Given the description of an element on the screen output the (x, y) to click on. 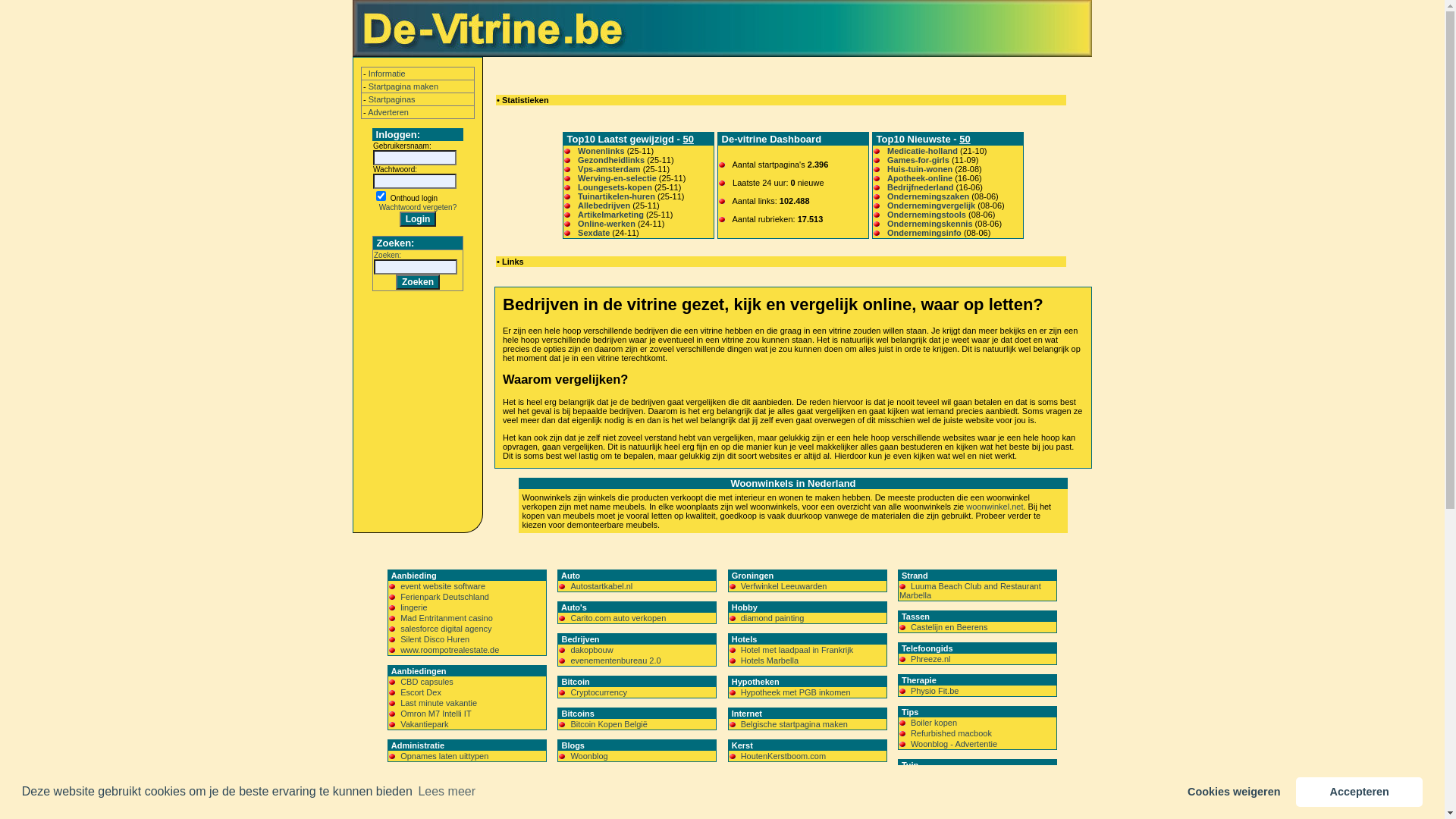
lingerie Element type: text (413, 606)
Login Element type: text (417, 218)
csgoroll Element type: text (584, 787)
Refurbished macbook Element type: text (950, 732)
Escort Dex Element type: text (420, 691)
av ladies Element type: text (416, 798)
Mad Entritanment casino Element type: text (446, 617)
Wachtwoord vergeten? Element type: text (417, 207)
Silent Disco Huren Element type: text (434, 638)
Gezondheidlinks Element type: text (610, 159)
elektrische kookplaat 4 tips kopen Element type: text (462, 808)
Adverteren Element type: text (387, 111)
50 Element type: text (687, 138)
Apotheek-online Element type: text (919, 177)
Huis-tuin-wonen Element type: text (919, 168)
Lees meer Element type: text (446, 791)
Zoeken Element type: text (417, 281)
salesforce digital agency Element type: text (445, 628)
www.roompotrealestate.de Element type: text (449, 649)
gokkasten Element type: text (589, 798)
Phreeze.nl Element type: text (930, 658)
Carito.com auto verkopen Element type: text (617, 617)
Cryptocurrency Element type: text (598, 691)
kosten riool ontstoppen Utrecht Element type: text (968, 807)
diamond painting Element type: text (772, 617)
Ferienpark Deutschland Element type: text (444, 596)
Loungesets-kopen Element type: text (614, 186)
Autostartkabel.nl Element type: text (601, 585)
Cookies weigeren Element type: text (1233, 791)
Allebedrijven Element type: text (603, 205)
Werving-en-selectie Element type: text (616, 177)
Luuma Beach Club and Restaurant Marbella Element type: text (970, 590)
Medicatie-holland Element type: text (922, 150)
Artikelmarketing Element type: text (610, 214)
dakopbouw Element type: text (591, 649)
Vakantiepark Element type: text (424, 723)
Woonblog Element type: text (588, 755)
Professioneel kerstverlichting Element type: text (794, 787)
Wonenlinks Element type: text (600, 150)
Ondernemingszaken Element type: text (928, 195)
Sexdate Element type: text (593, 232)
Vps-amsterdam Element type: text (608, 168)
Boiler kopen Element type: text (933, 722)
Castelijn en Beerens Element type: text (949, 626)
Online-werken Element type: text (606, 223)
Tuinartikelen-huren Element type: text (616, 195)
Ondernemingvergelijk Element type: text (931, 205)
CBD capsules Element type: text (426, 681)
Tuinverlichtingen.eu Element type: text (947, 775)
Ondernemingskennis Element type: text (929, 223)
Physio Fit.be Element type: text (934, 690)
Accepteren Element type: text (1358, 791)
Adventskalender kopen Element type: text (443, 787)
event website software Element type: text (442, 585)
Games-for-girls Element type: text (918, 159)
Omron M7 Intelli IT Element type: text (435, 713)
evenementenbureau 2.0 Element type: text (615, 660)
Hypotheek met PGB inkomen Element type: text (795, 691)
50 Element type: text (964, 138)
Zoeken: Element type: text (387, 255)
Verfwinkel Leeuwarden Element type: text (783, 585)
Startpagina maken Element type: text (403, 86)
Woonblog - Advertentie Element type: text (953, 743)
Belgische startpagina maken Element type: text (793, 723)
Last minute vakantie Element type: text (438, 702)
HoutenKerstboom.com Element type: text (783, 755)
Bedrijfnederland Element type: text (920, 186)
Informatie Element type: text (386, 73)
Hotel met laadpaal in Frankrijk Element type: text (796, 649)
Ondernemingstools Element type: text (926, 214)
Opnames laten uittypen Element type: text (444, 755)
woonwinkel.net Element type: text (994, 506)
Hotels Marbella Element type: text (769, 660)
Ondernemingsinfo Element type: text (924, 232)
Startpaginas Element type: text (391, 98)
